Given the description of an element on the screen output the (x, y) to click on. 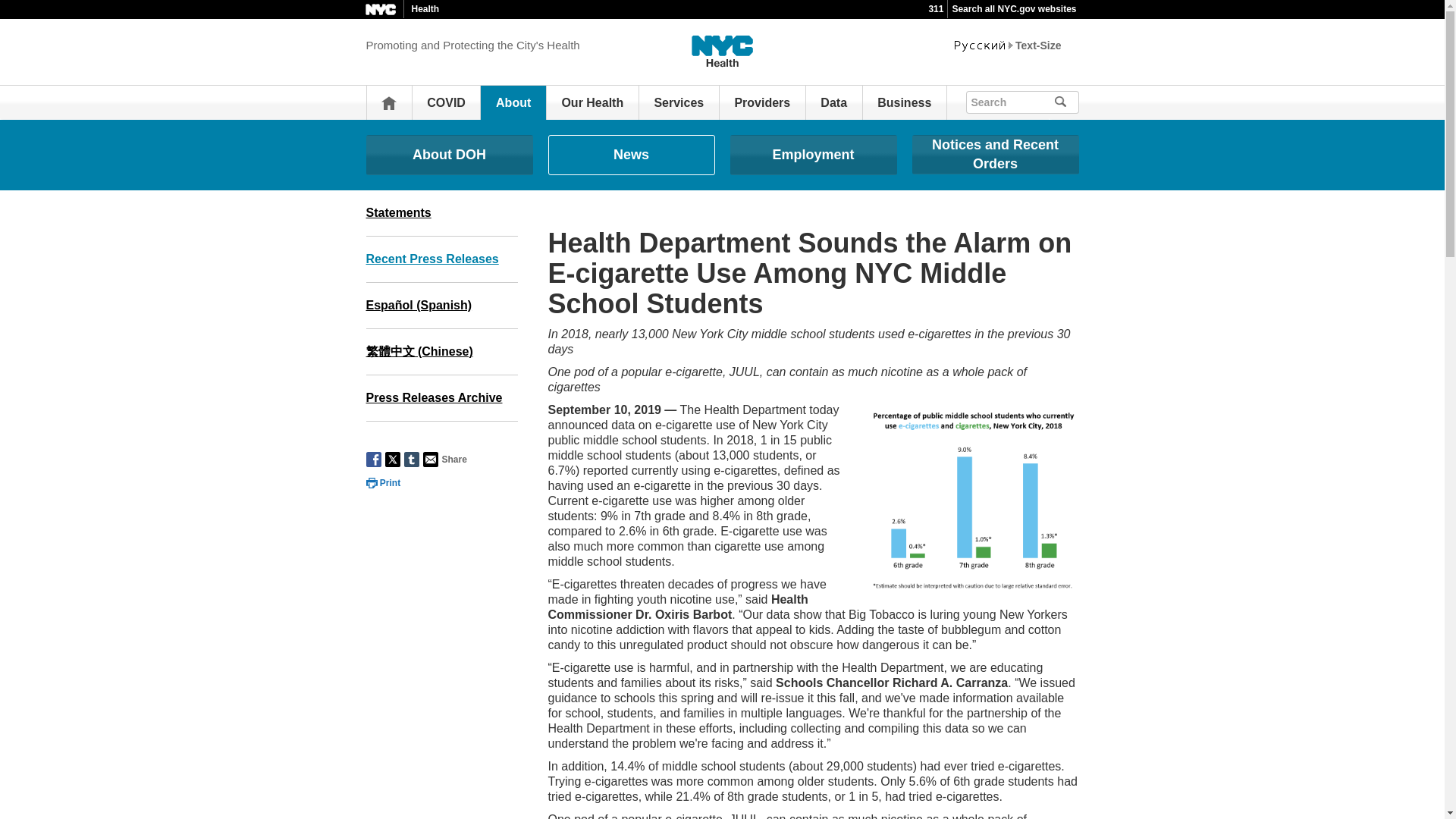
Text-Size (1037, 45)
Press Releases Archive (440, 398)
Our Health (591, 102)
Business (904, 102)
Employment (812, 155)
COVID (445, 102)
Providers (761, 102)
submit (1081, 100)
Statements (440, 213)
Services (678, 102)
About DOH (448, 155)
submit (1081, 100)
Recent Press Releases (440, 259)
submit (1066, 101)
311 (935, 9)
